Given the description of an element on the screen output the (x, y) to click on. 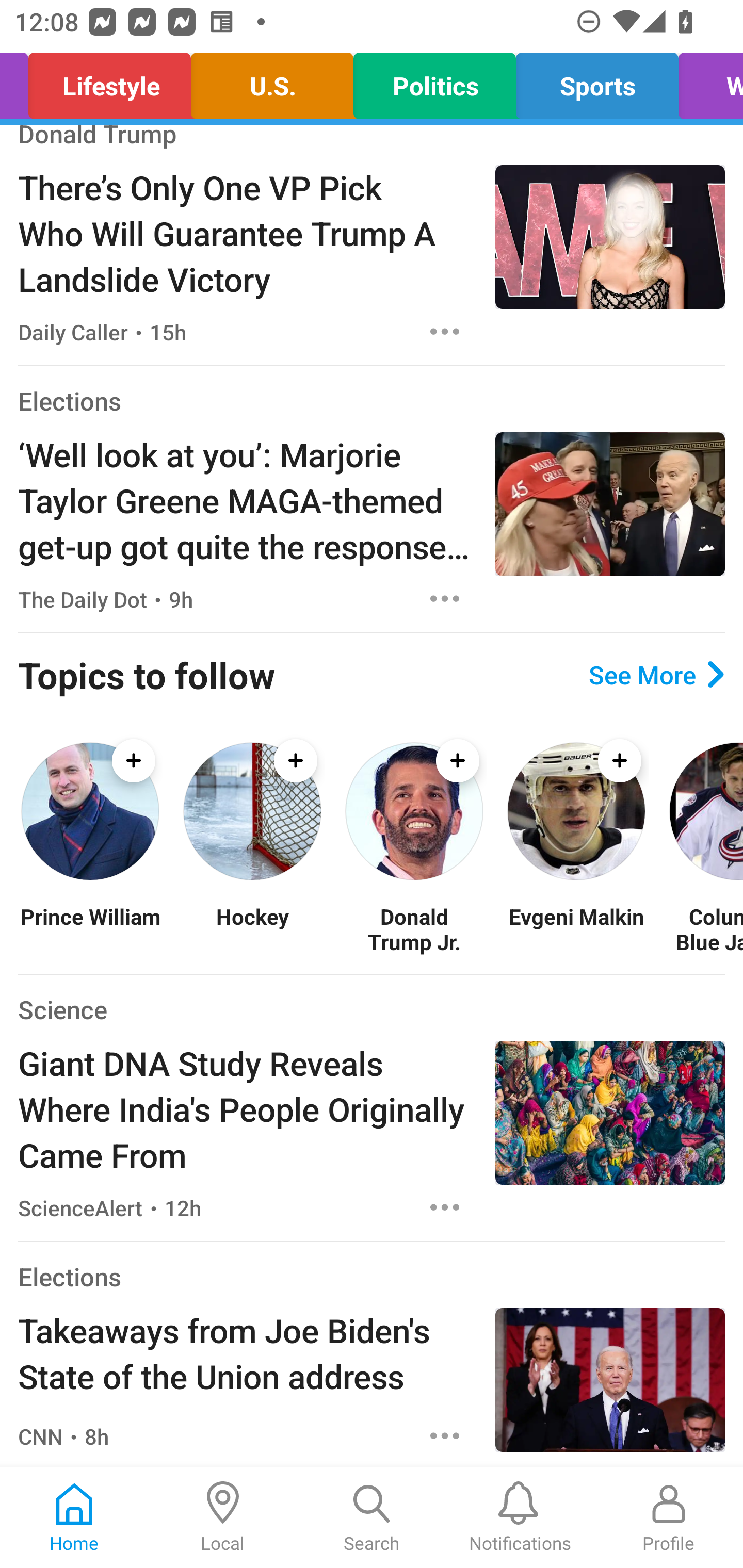
Lifestyle (109, 81)
U.S. (271, 81)
Politics (434, 81)
Sports (597, 81)
Donald Trump (97, 137)
Options (444, 331)
Elections (69, 400)
Options (444, 598)
See More (656, 673)
Prince William (89, 928)
Hockey (251, 928)
Donald Trump Jr. (413, 928)
Evgeni Malkin (575, 928)
Science (61, 1009)
Options (444, 1207)
Elections (69, 1276)
Options (444, 1436)
Local (222, 1517)
Search (371, 1517)
Notifications (519, 1517)
Profile (668, 1517)
